Given the description of an element on the screen output the (x, y) to click on. 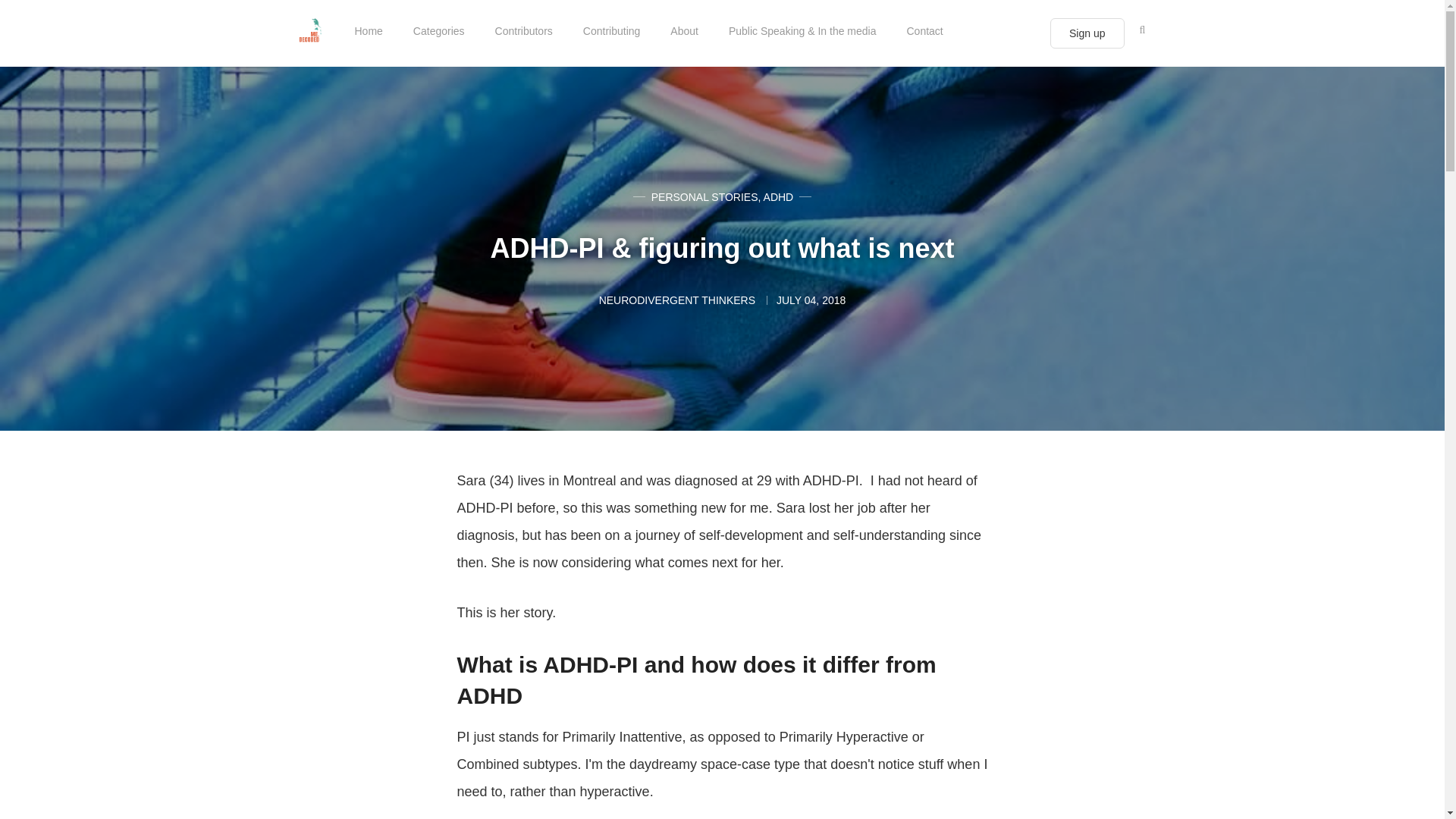
Home (368, 30)
Contributing (611, 30)
Contact (925, 30)
Sign up (1086, 33)
Contributors (524, 30)
PERSONAL STORIES (704, 196)
NEURODIVERGENT THINKERS (678, 300)
Categories (438, 30)
About (683, 30)
ADHD (777, 196)
